Given the description of an element on the screen output the (x, y) to click on. 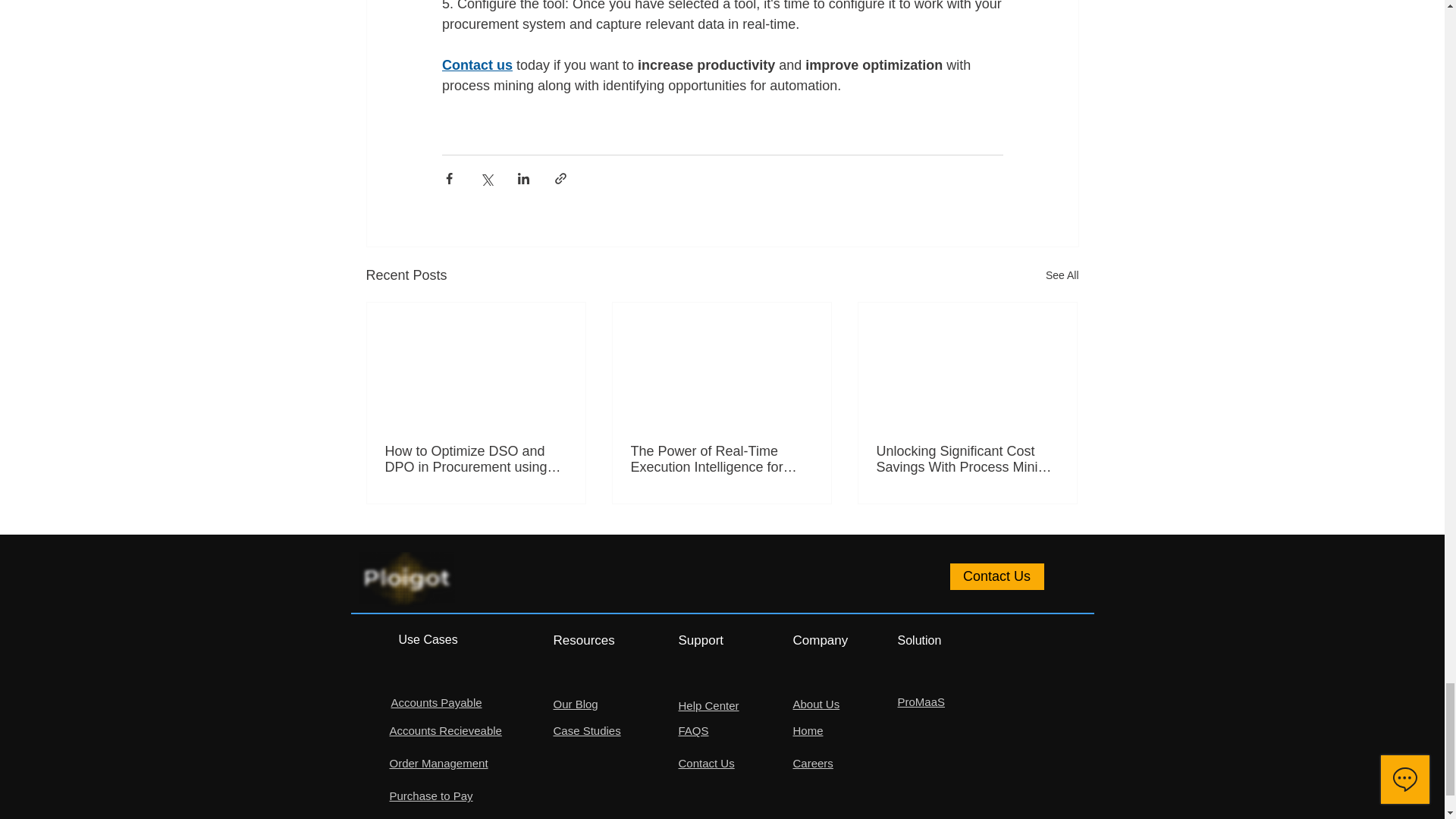
Case Studies (587, 730)
See All (1061, 275)
Our Blog (575, 703)
Contact Us (996, 576)
Accounts Payable (436, 702)
Contact us (476, 64)
Accounts Recieveable (446, 730)
